Given the description of an element on the screen output the (x, y) to click on. 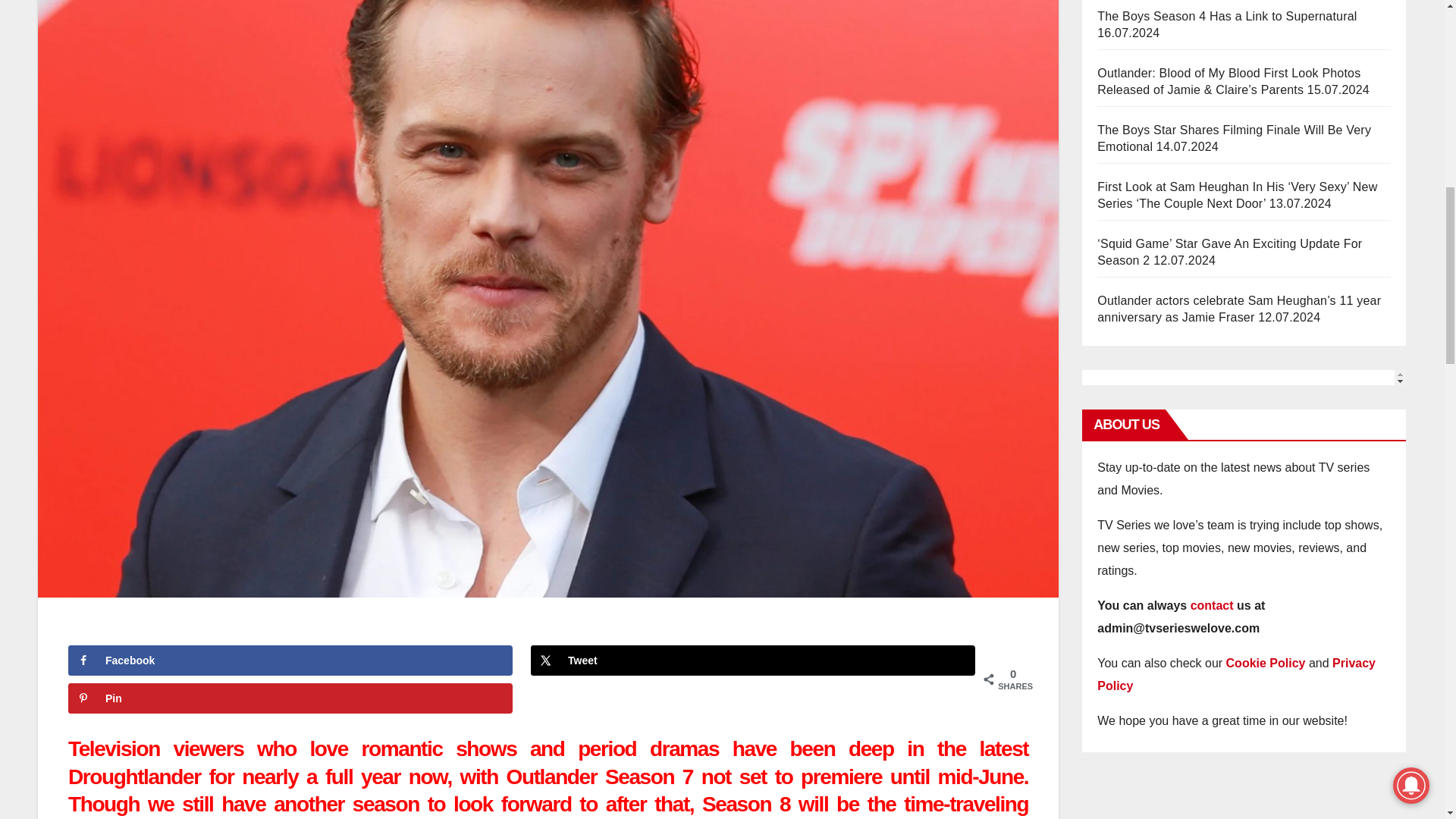
Pin (290, 698)
Share on X (753, 660)
Facebook (290, 660)
Share on Facebook (290, 660)
Save to Pinterest (290, 698)
Tweet (753, 660)
